Given the description of an element on the screen output the (x, y) to click on. 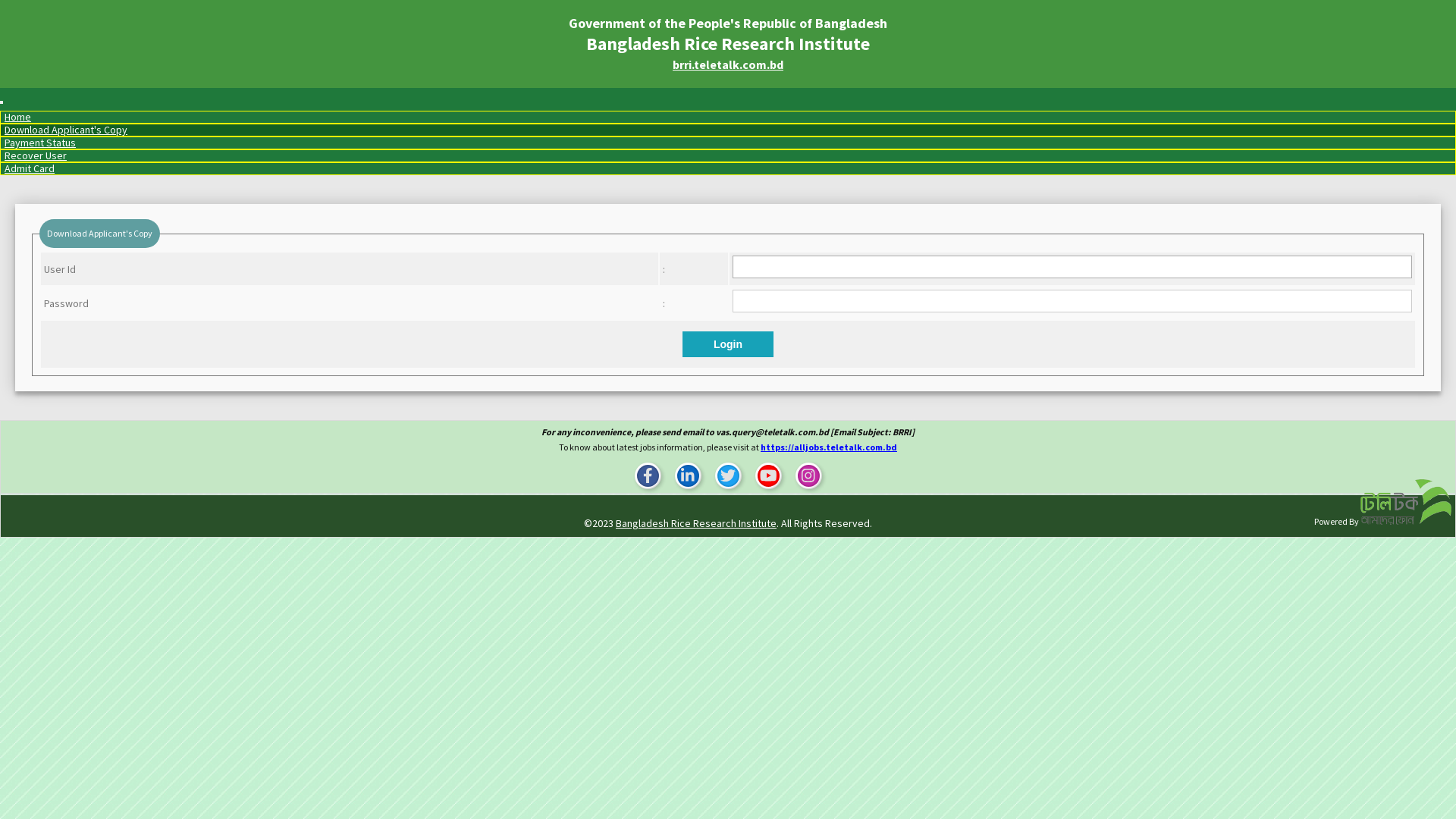
Login Element type: text (727, 344)
brri.teletalk.com.bd Element type: text (727, 64)
Admit Card Element type: text (29, 168)
Payment Status Element type: text (39, 142)
Bangladesh Rice Research Institute Element type: text (695, 523)
Home
(current) Element type: text (17, 116)
Recover User Element type: text (35, 155)
Powered By: Teletalk Element type: hover (1405, 501)
Download Applicant's Copy Element type: text (65, 129)
https://alljobs.teletalk.com.bd Element type: text (828, 446)
